Given the description of an element on the screen output the (x, y) to click on. 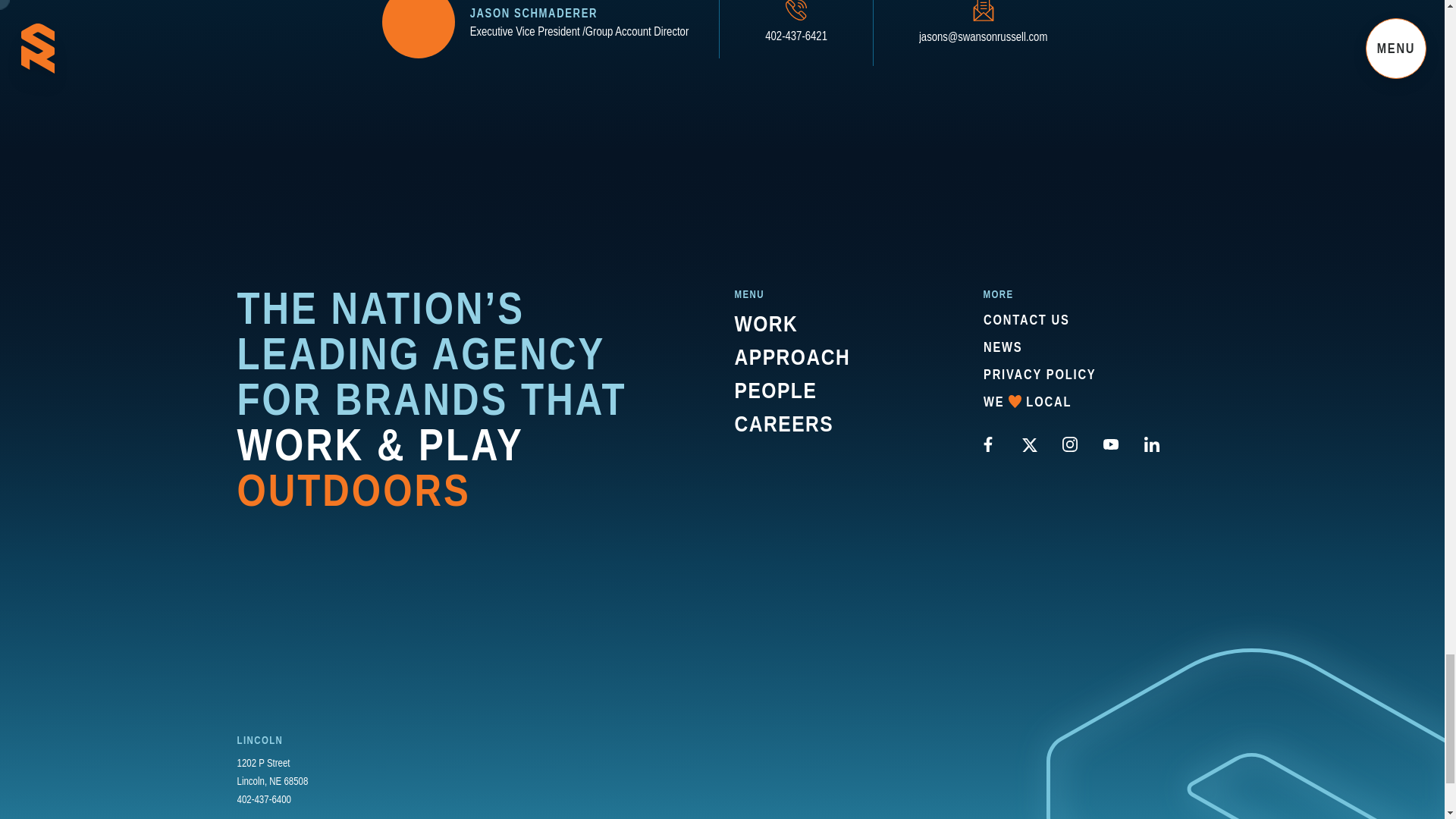
PEOPLE (774, 389)
402-437-6400 (263, 799)
PRIVACY POLICY (1039, 373)
NEWS (1002, 346)
CONTACT US (1025, 319)
WORK (765, 322)
CAREERS (782, 422)
402-437-6421 (1026, 401)
APPROACH (796, 33)
